Given the description of an element on the screen output the (x, y) to click on. 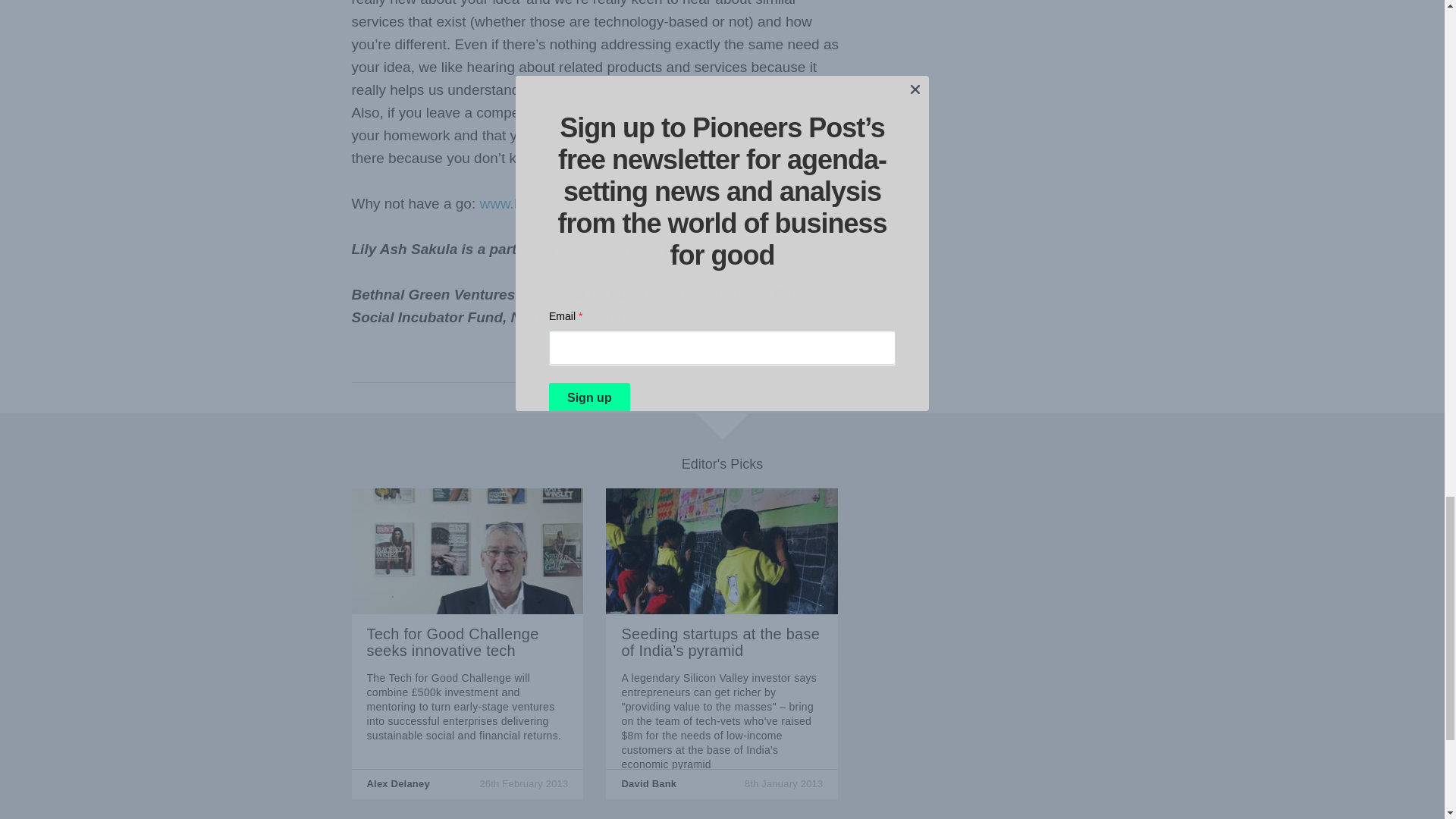
David Bank (649, 783)
View profile for David Bank (649, 783)
Alex Delaney (397, 783)
View profile for Alex Delaney (397, 783)
